Given the description of an element on the screen output the (x, y) to click on. 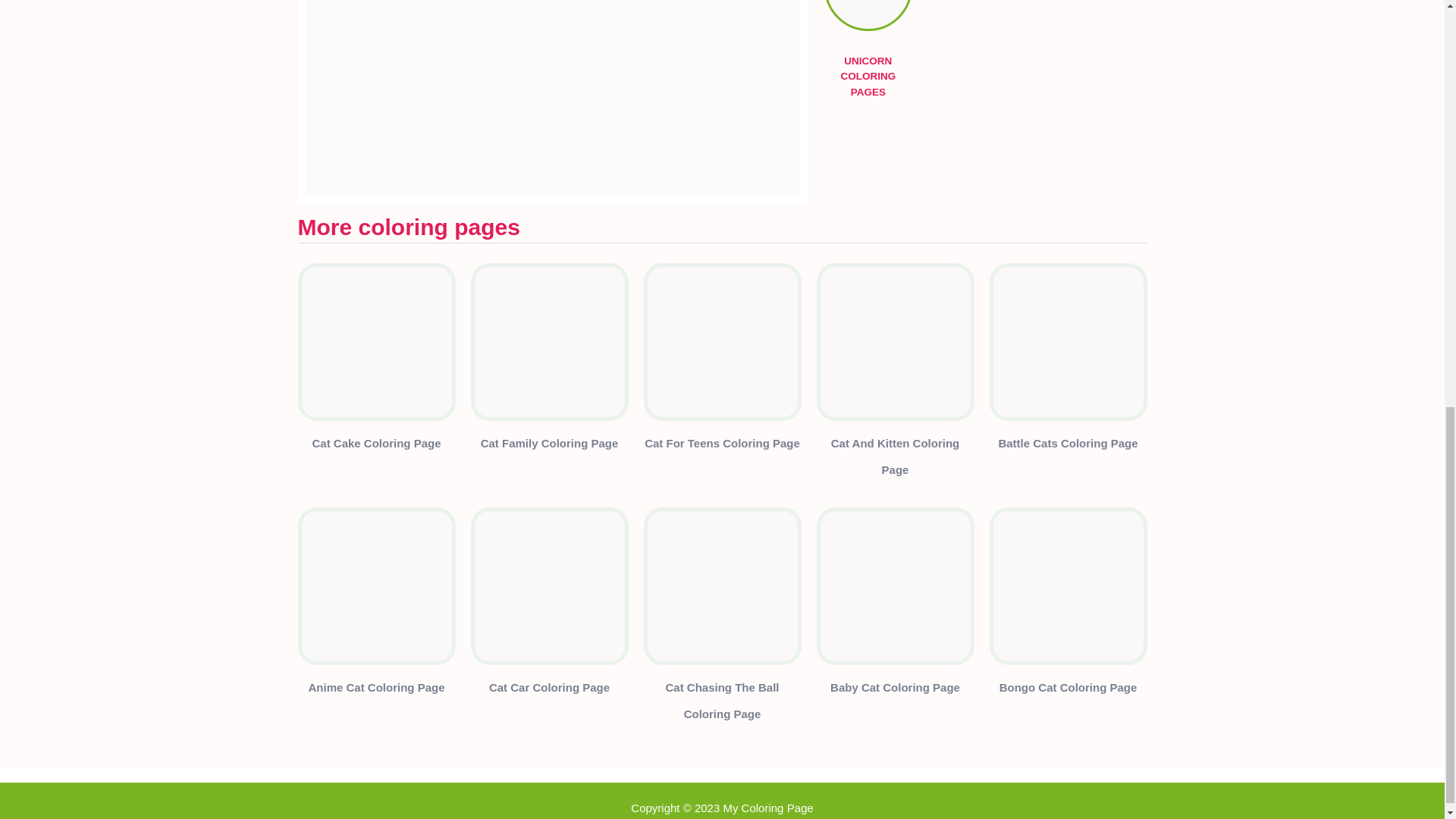
Cat Car Coloring Page (549, 690)
Cat Family Coloring Page (549, 445)
UNICORN COLORING PAGES (868, 19)
Battle Cats Coloring Page (1067, 445)
Cat For Teens Coloring Page (722, 445)
Anime Cat Coloring Page (375, 690)
Cat Cake Coloring Page (376, 445)
Cat And Kitten Coloring Page (894, 458)
